Given the description of an element on the screen output the (x, y) to click on. 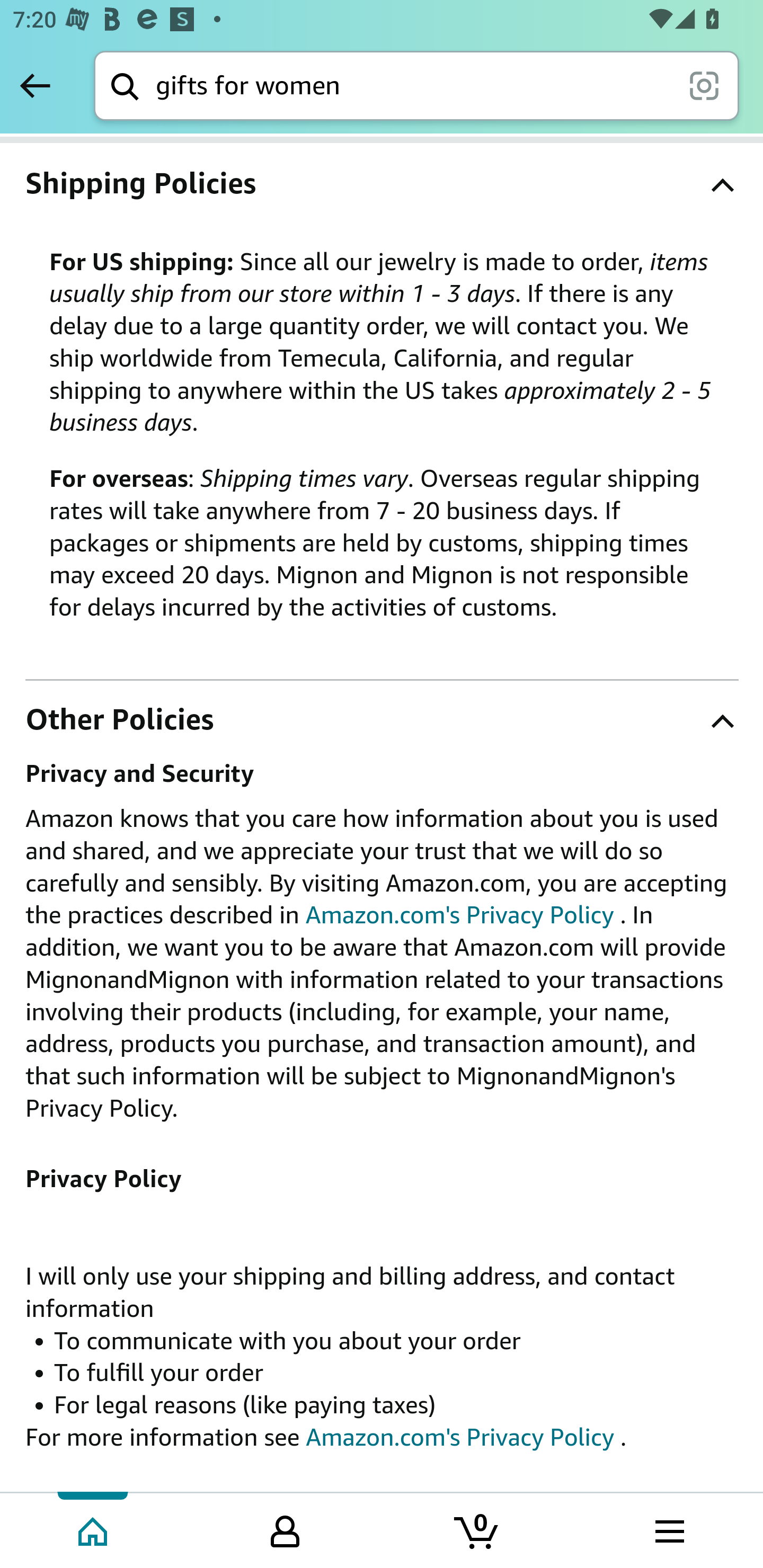
Back (35, 85)
Search Search gifts for women scan it (416, 85)
scan it (704, 85)
Shipping Policies (382, 183)
Other Policies (382, 719)
Amazon.com's Privacy Policy (459, 916)
Amazon.com's Privacy Policy (459, 1436)
Home Tab 1 of 4 (94, 1529)
Your Amazon.com Tab 2 of 4 (285, 1529)
Cart 0 item Tab 3 of 4 0 (477, 1529)
Browse menu Tab 4 of 4 (668, 1529)
